Given the description of an element on the screen output the (x, y) to click on. 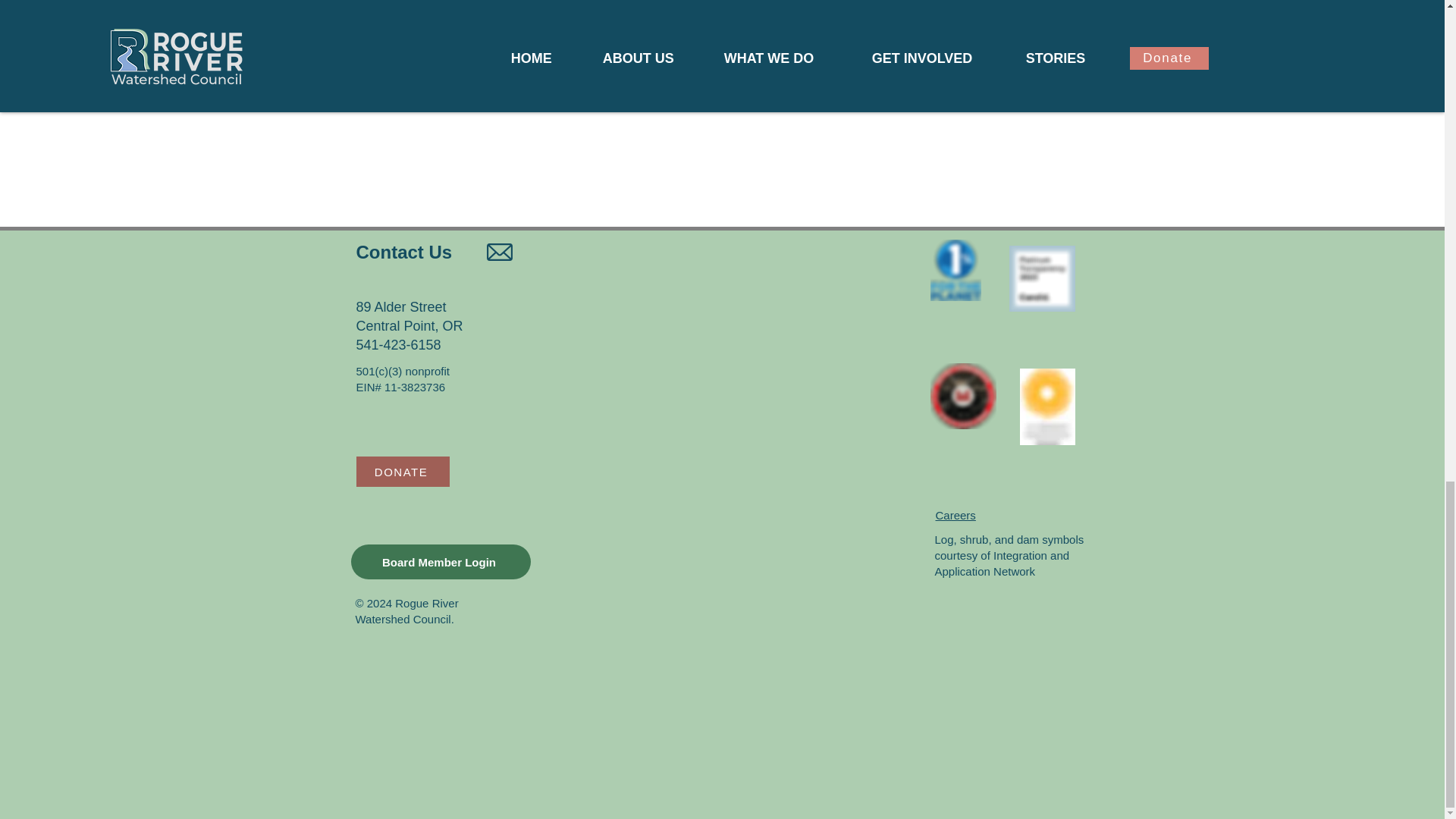
DONATE (402, 471)
Board Member Login (439, 561)
Careers (955, 514)
